Given the description of an element on the screen output the (x, y) to click on. 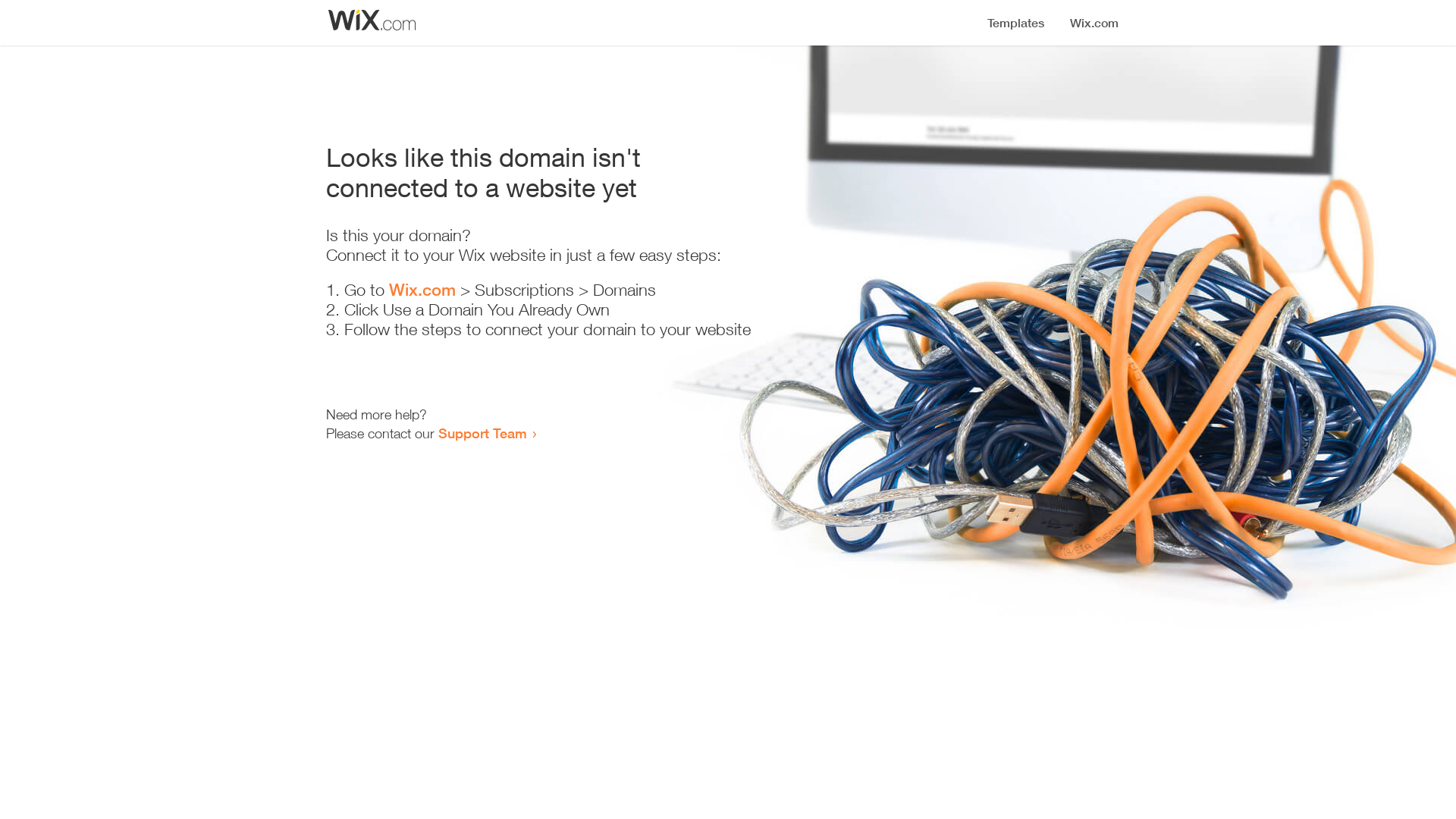
Support Team Element type: text (482, 432)
Wix.com Element type: text (422, 289)
